Given the description of an element on the screen output the (x, y) to click on. 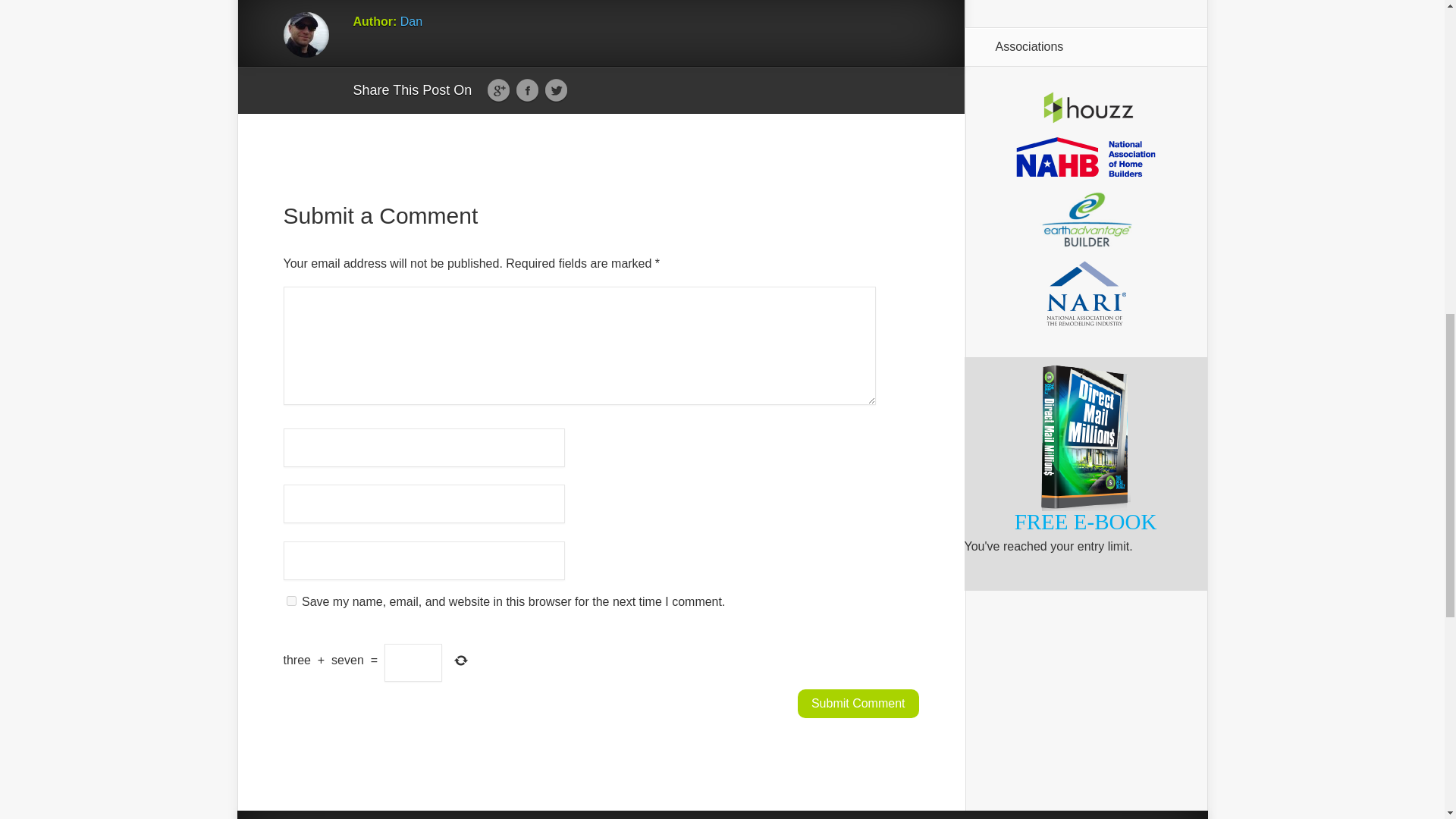
Google (498, 90)
Twitter (555, 90)
Dan (411, 21)
Facebook (526, 90)
Submit Comment (857, 703)
Submit Comment (857, 703)
yes (291, 601)
